Given the description of an element on the screen output the (x, y) to click on. 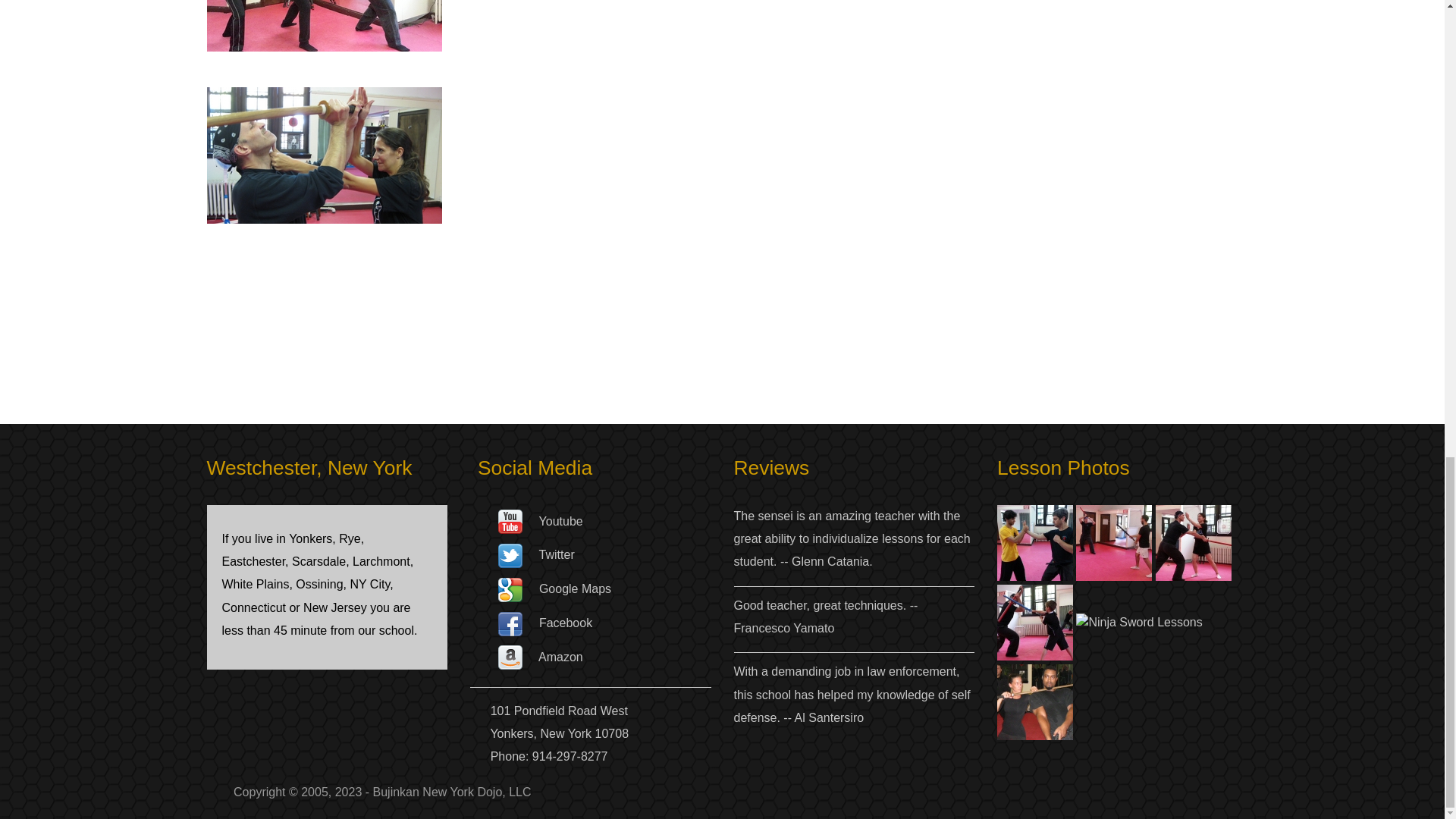
Buy this book (509, 656)
Follow our Tweets (509, 554)
Find us on this map (509, 588)
Watch our video (509, 521)
Like our FB page (509, 622)
